Given the description of an element on the screen output the (x, y) to click on. 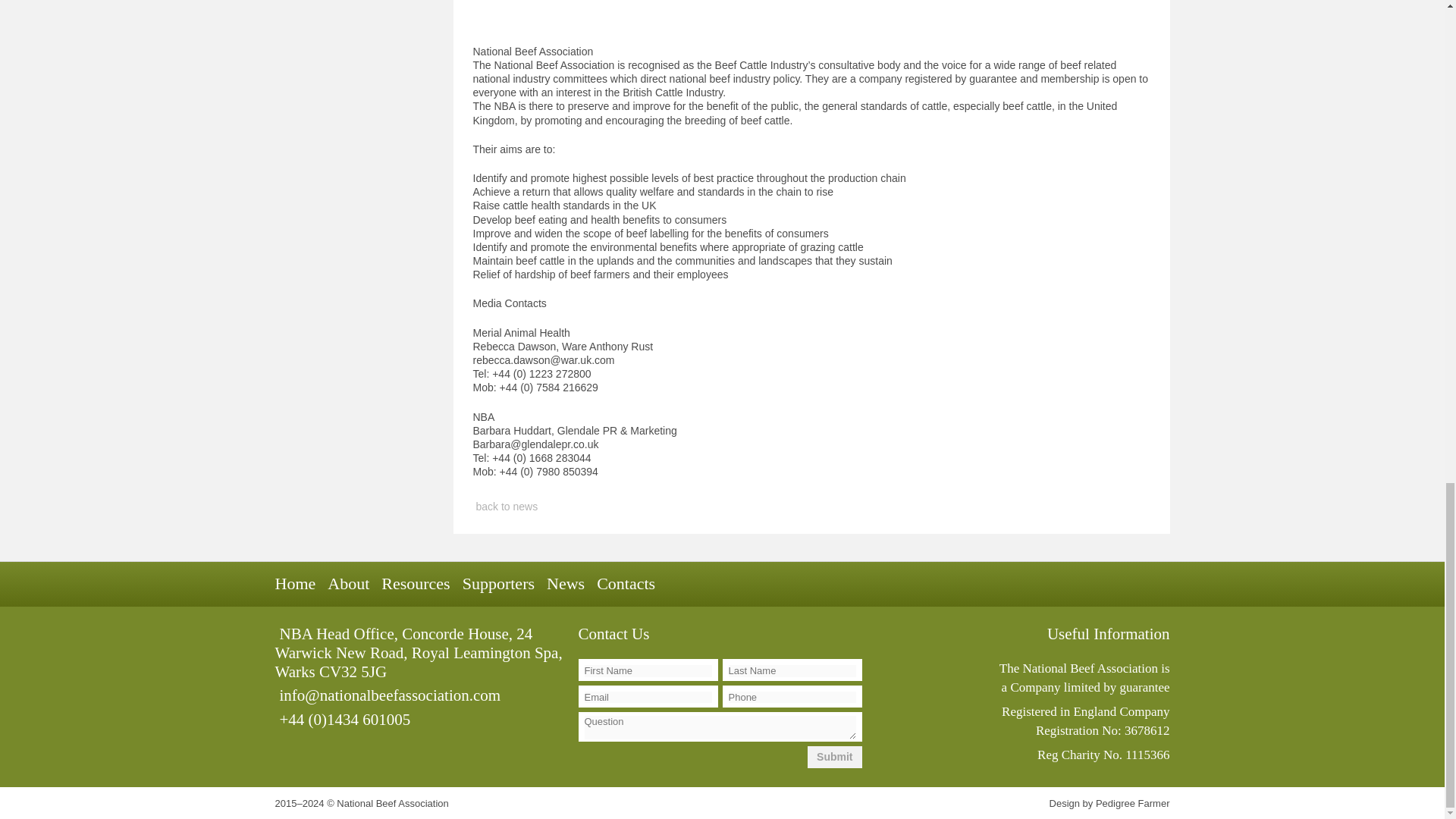
Pedigree Farmer Web Design (1133, 803)
Back to News (811, 506)
Submit (834, 757)
